Given the description of an element on the screen output the (x, y) to click on. 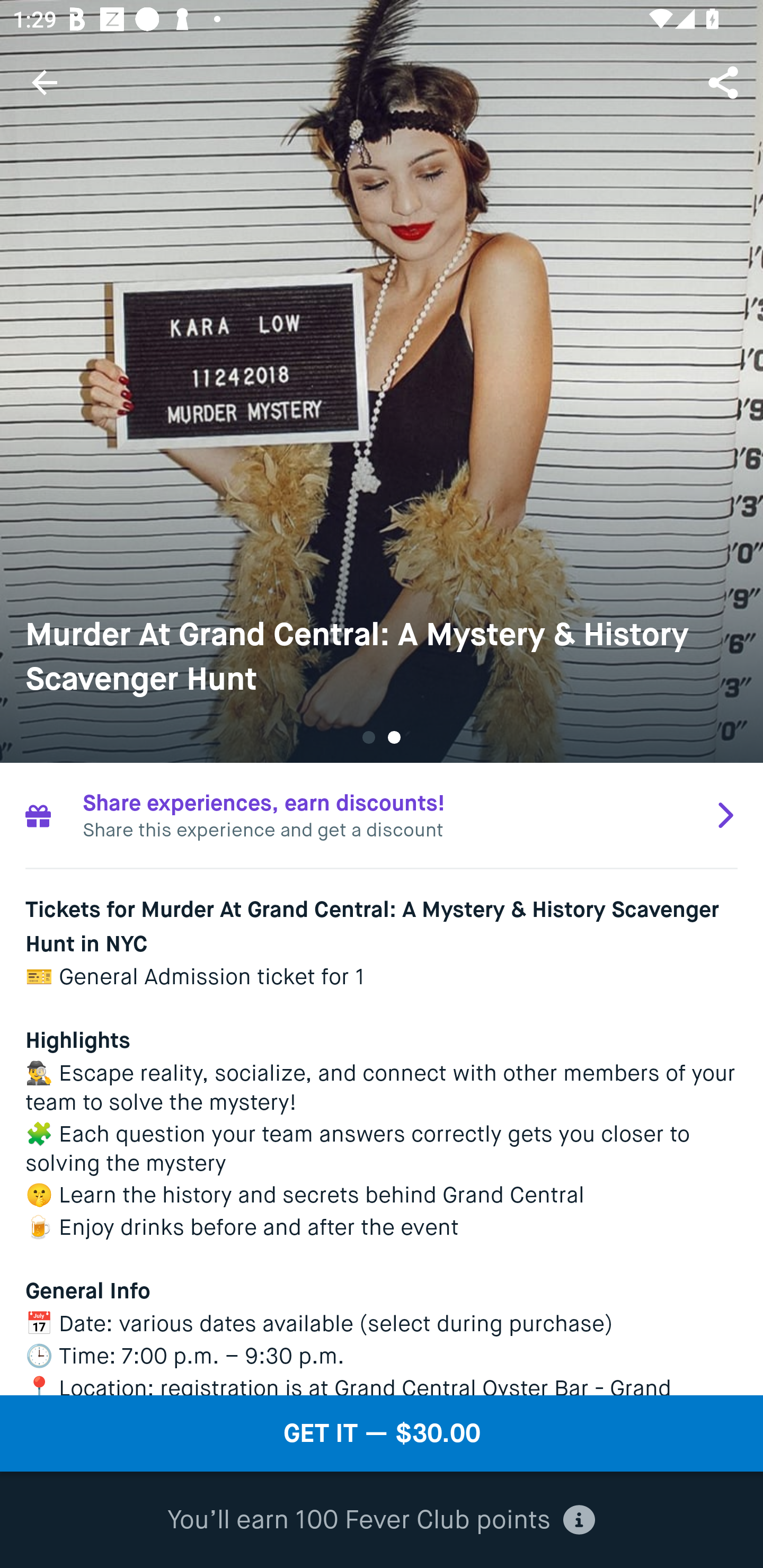
Navigate up (44, 82)
Share (724, 81)
GET IT — $30.00 (381, 1433)
You’ll earn 100 Fever Club points (381, 1519)
